Given the description of an element on the screen output the (x, y) to click on. 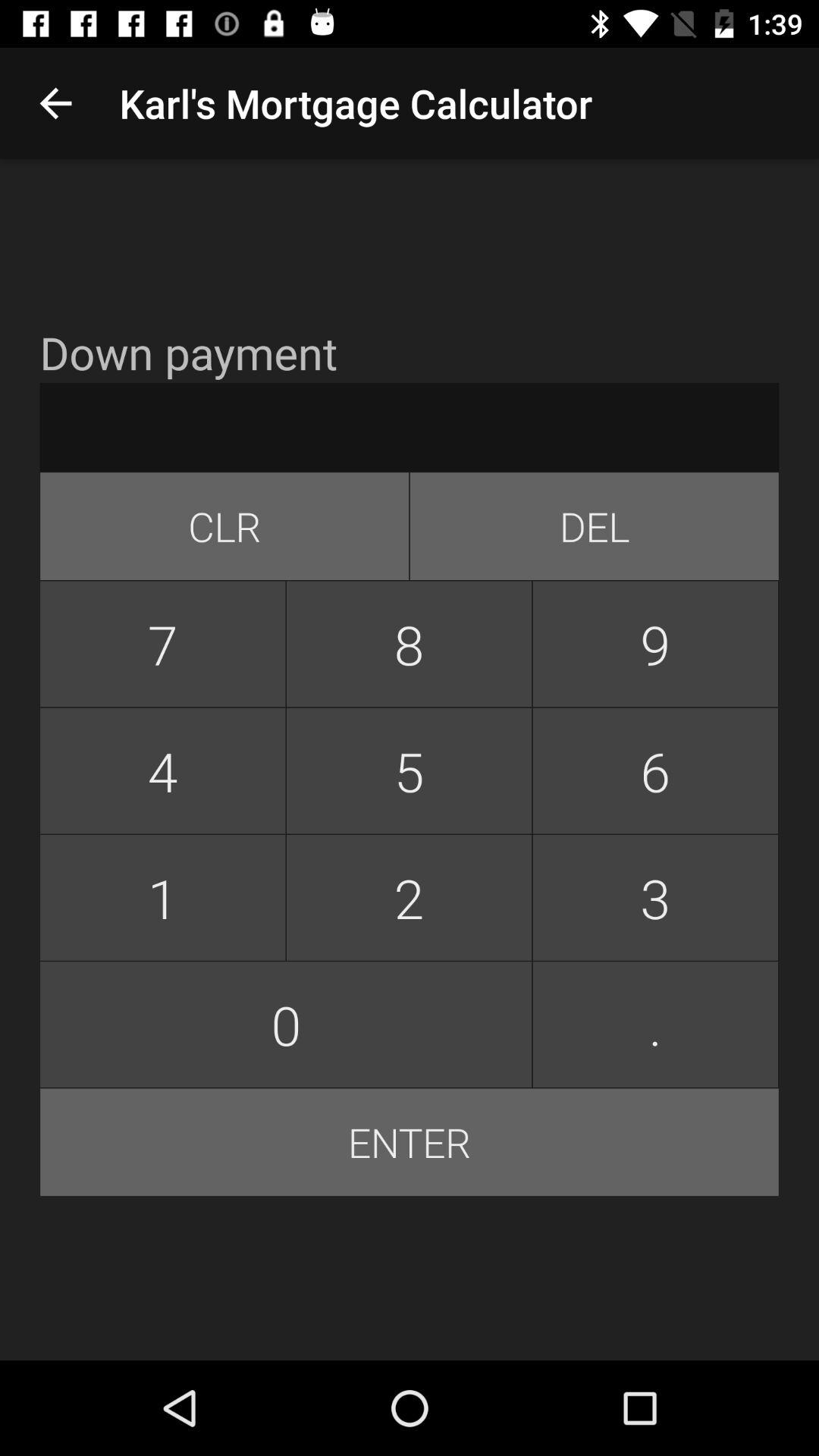
flip until 5 button (408, 770)
